Given the description of an element on the screen output the (x, y) to click on. 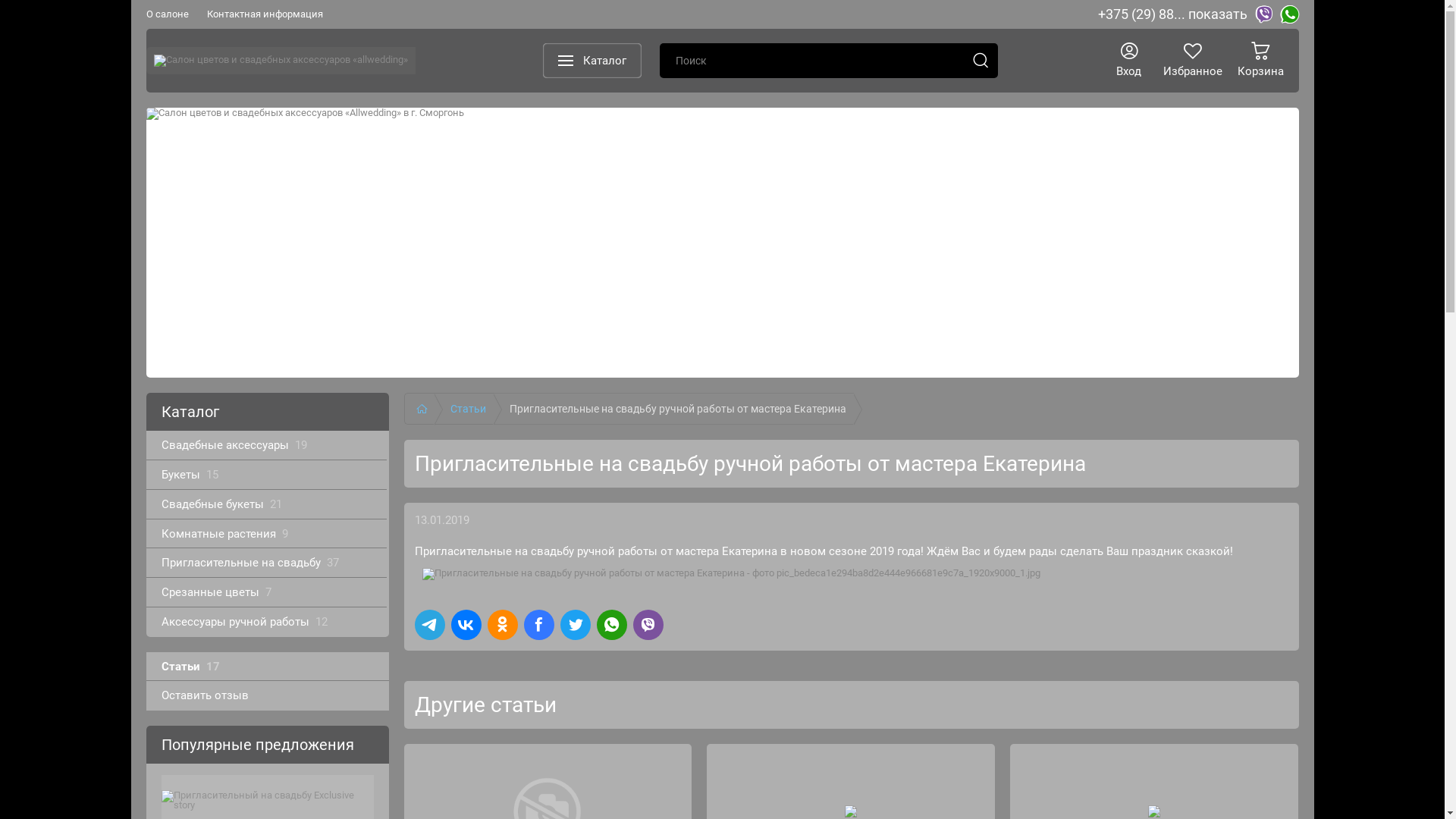
WhatsApp Element type: hover (1289, 14)
Viber Element type: hover (1263, 14)
